Given the description of an element on the screen output the (x, y) to click on. 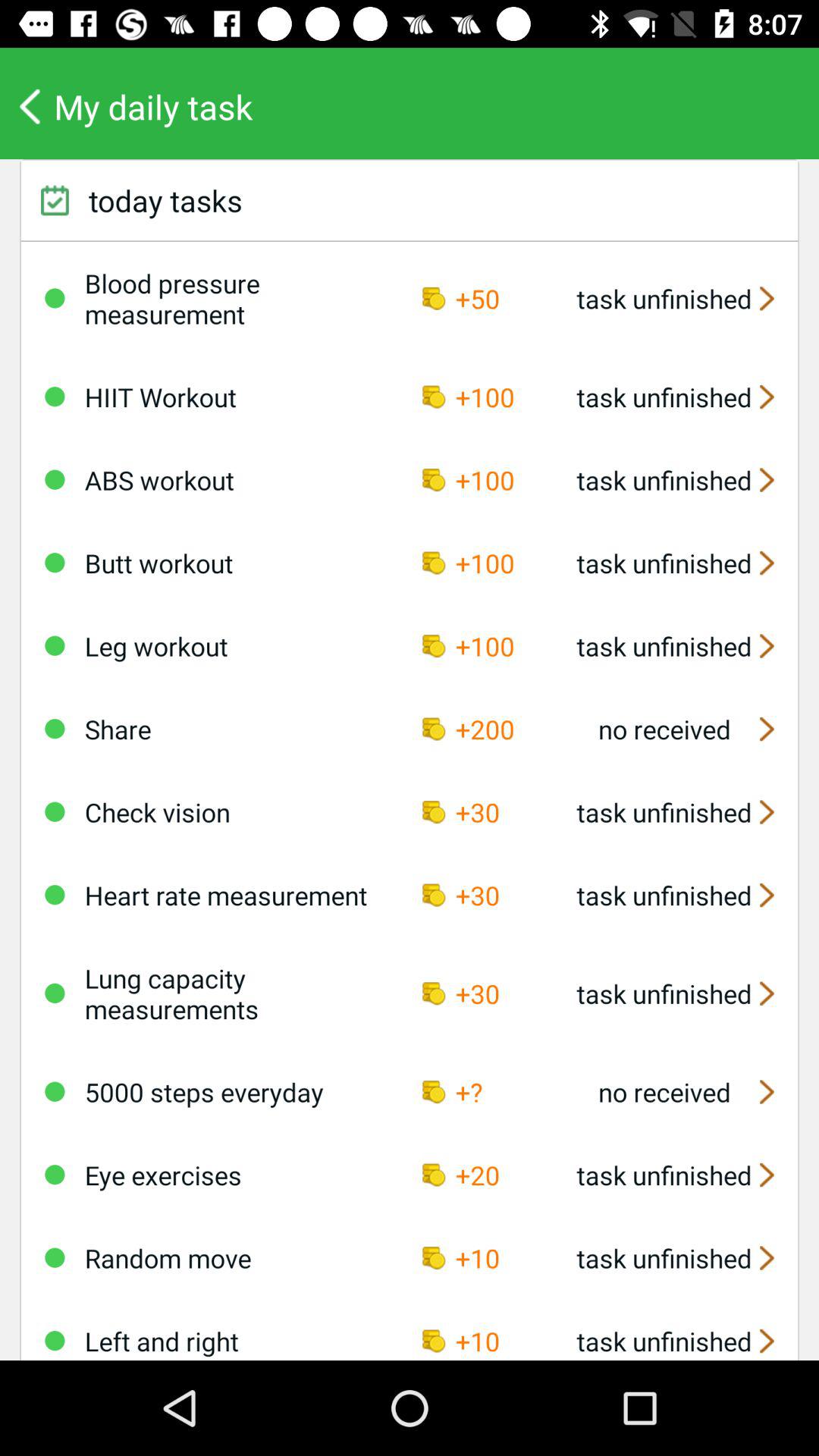
today 's active task (54, 1091)
